Given the description of an element on the screen output the (x, y) to click on. 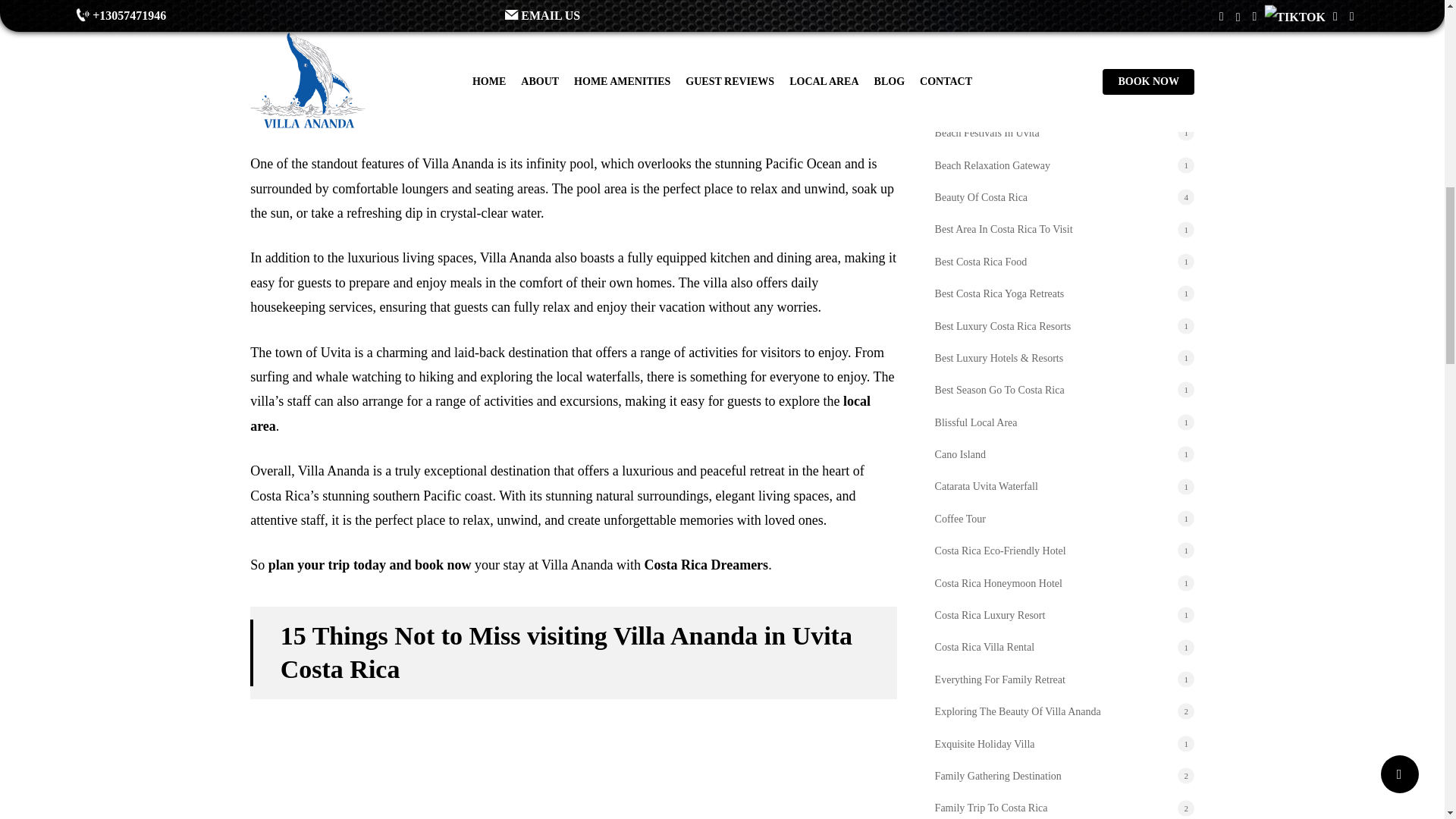
local area (560, 413)
Costa Rica Dreamers (706, 564)
plan your trip today and book now (369, 564)
perfect destination for families or groups (549, 81)
